Given the description of an element on the screen output the (x, y) to click on. 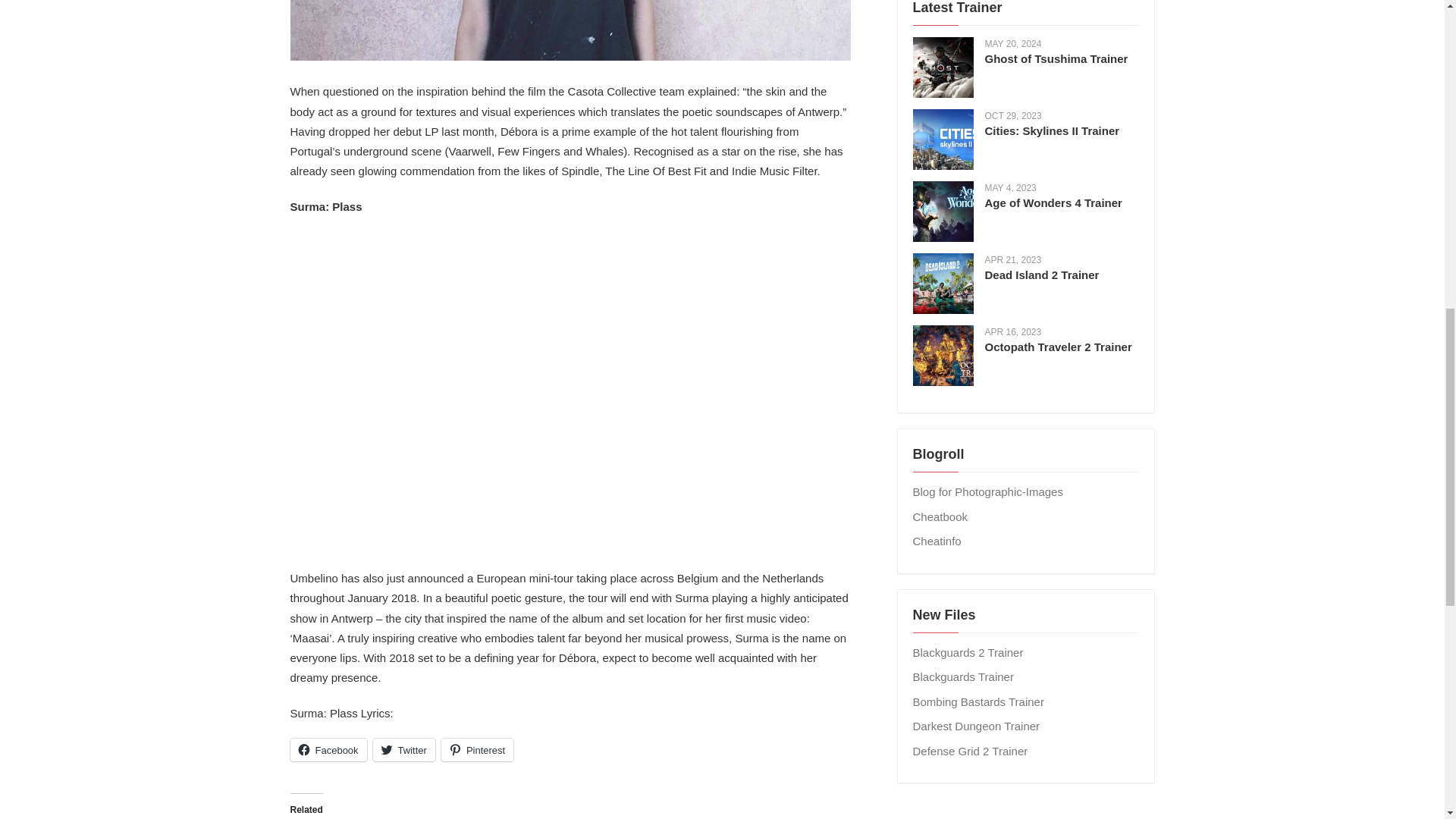
Click to share on Twitter (403, 749)
Facebook (327, 749)
Click to share on Facebook (327, 749)
Pinterest (477, 749)
GALLERY FOR PHOTOGRAPHIC-IMAGES (987, 491)
Twitter (403, 749)
Click to share on Pinterest (477, 749)
